Given the description of an element on the screen output the (x, y) to click on. 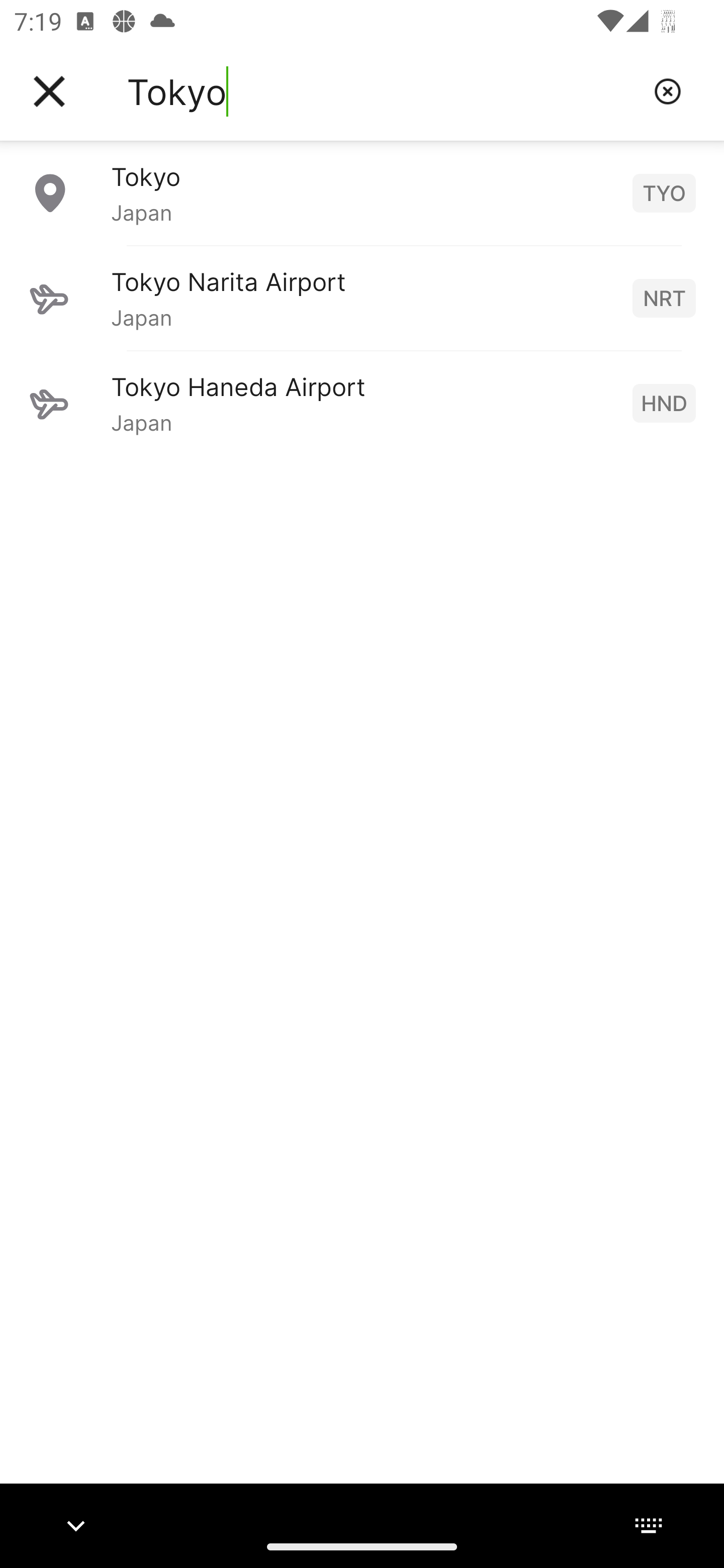
Tokyo (382, 91)
Tokyo Japan TYO (362, 192)
Tokyo Narita Airport Japan NRT (362, 297)
Tokyo Haneda Airport Japan HND (362, 402)
